Given the description of an element on the screen output the (x, y) to click on. 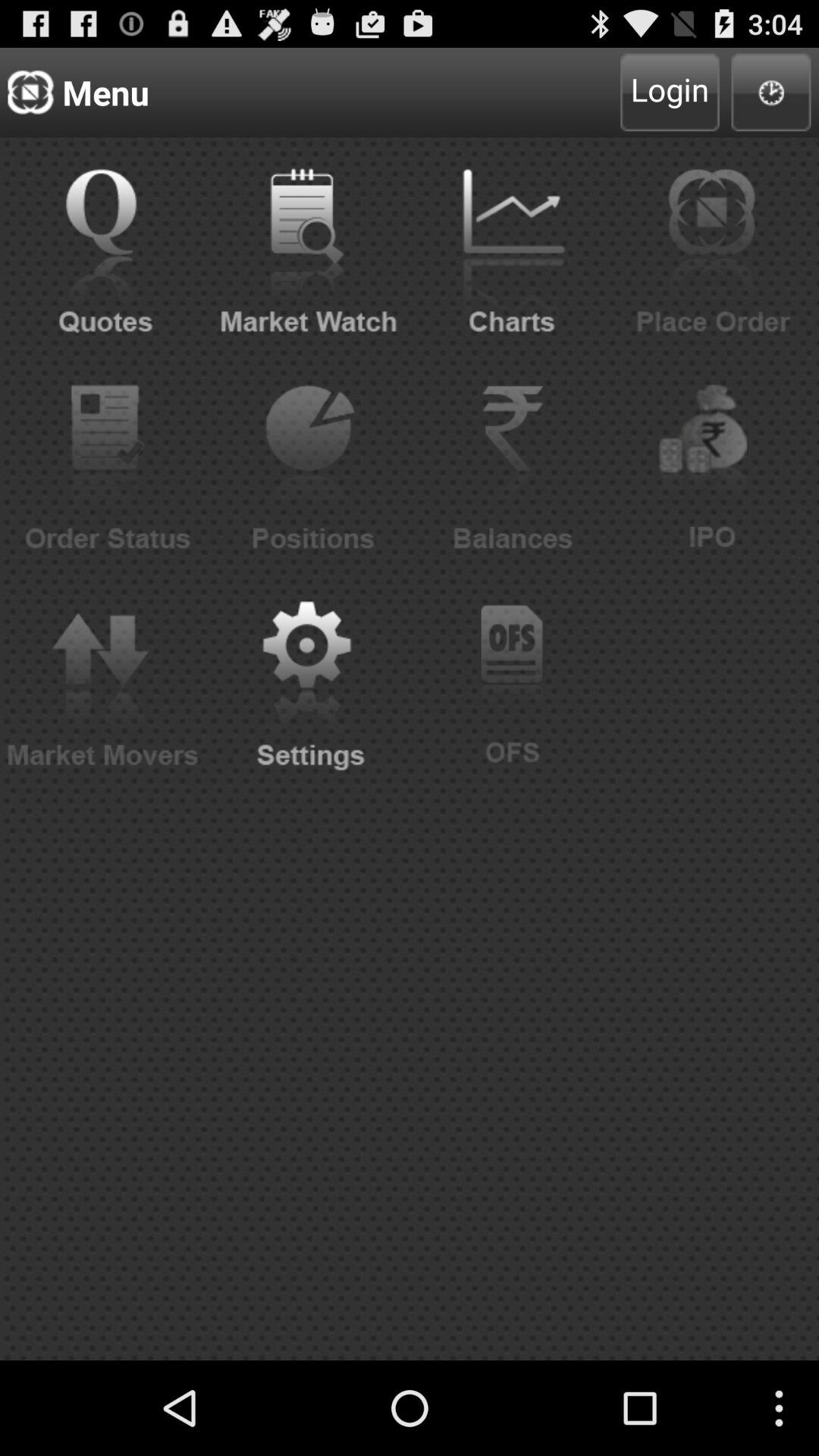
share location (771, 92)
